Given the description of an element on the screen output the (x, y) to click on. 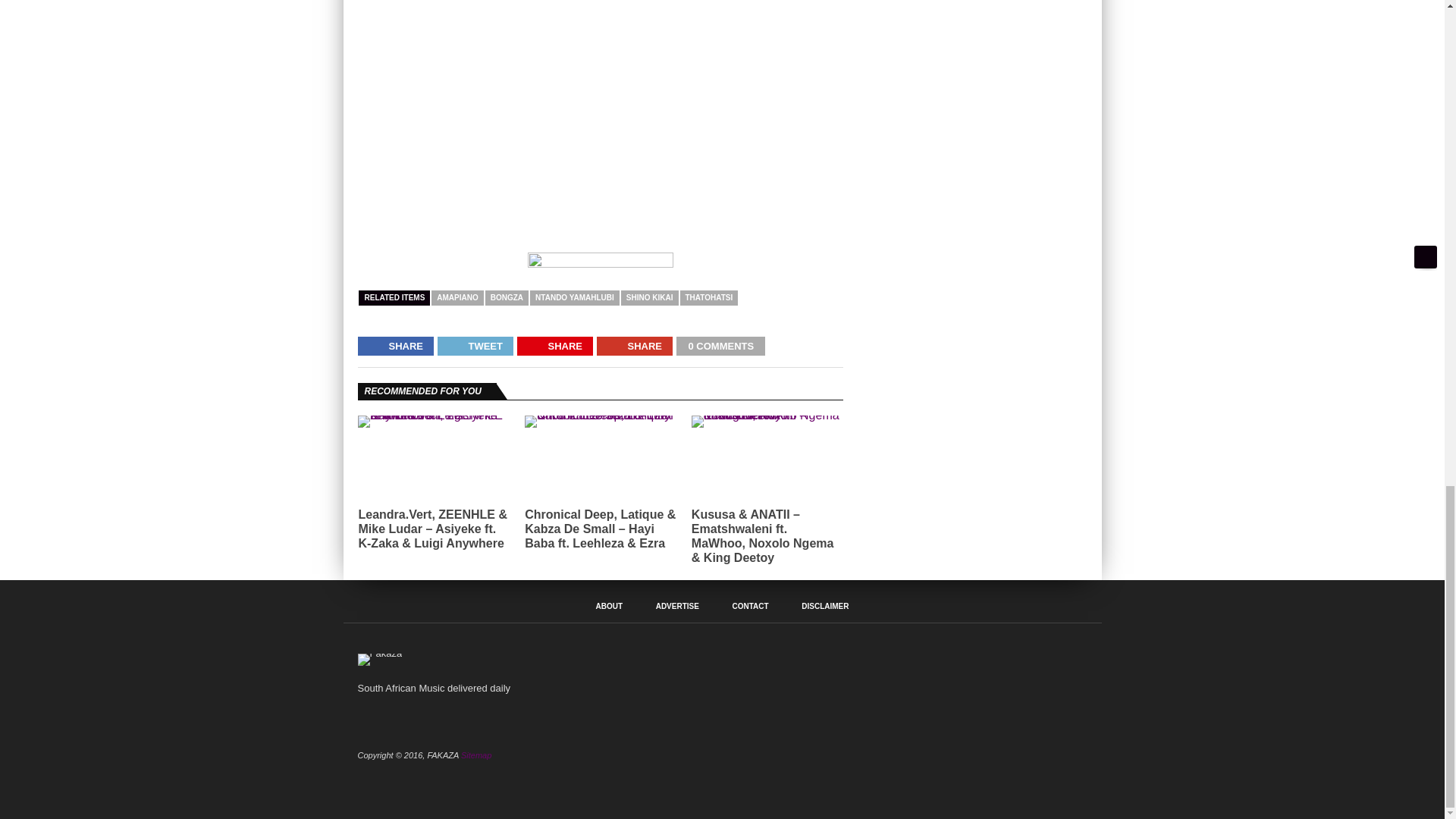
SHINO KIKAI (649, 296)
BONGZA (506, 296)
THATOHATSI (708, 296)
AMAPIANO (456, 296)
NTANDO YAMAHLUBI (574, 296)
